Given the description of an element on the screen output the (x, y) to click on. 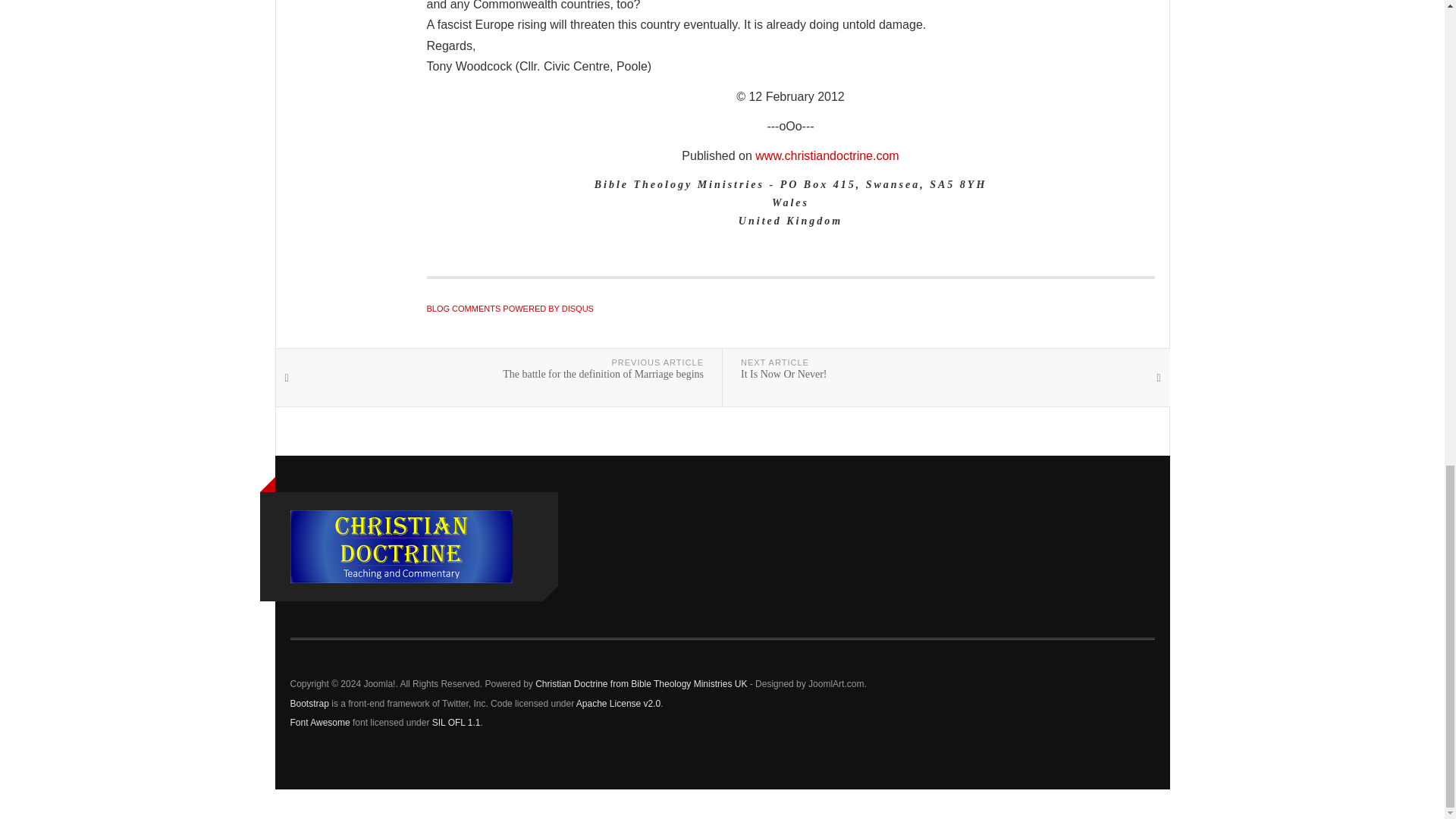
Christian Doctrine from Bible Theology Ministries UK (640, 683)
Christian Doctrine from Bible Theology Ministries UK (400, 546)
Christian Doctrine by Bible Theology Ministries (826, 155)
